Given the description of an element on the screen output the (x, y) to click on. 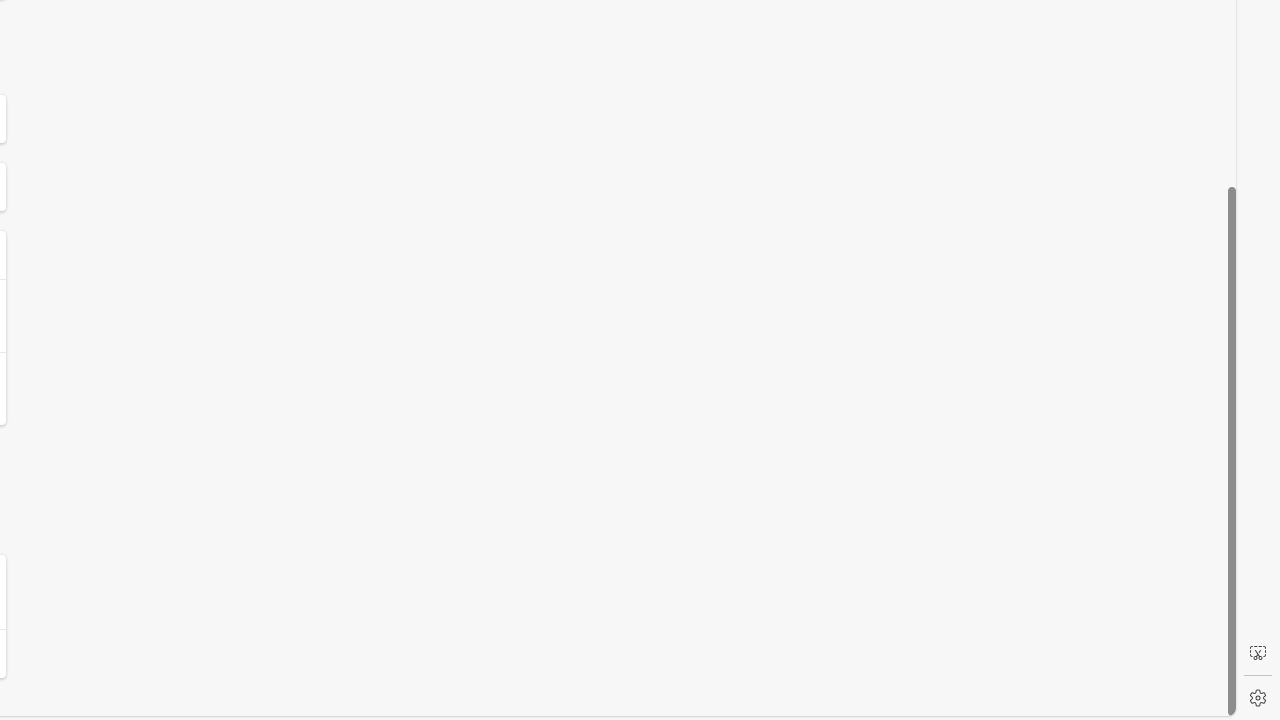
Settings Element type: push-button (1258, 698)
Screenshot Element type: push-button (1258, 653)
